Given the description of an element on the screen output the (x, y) to click on. 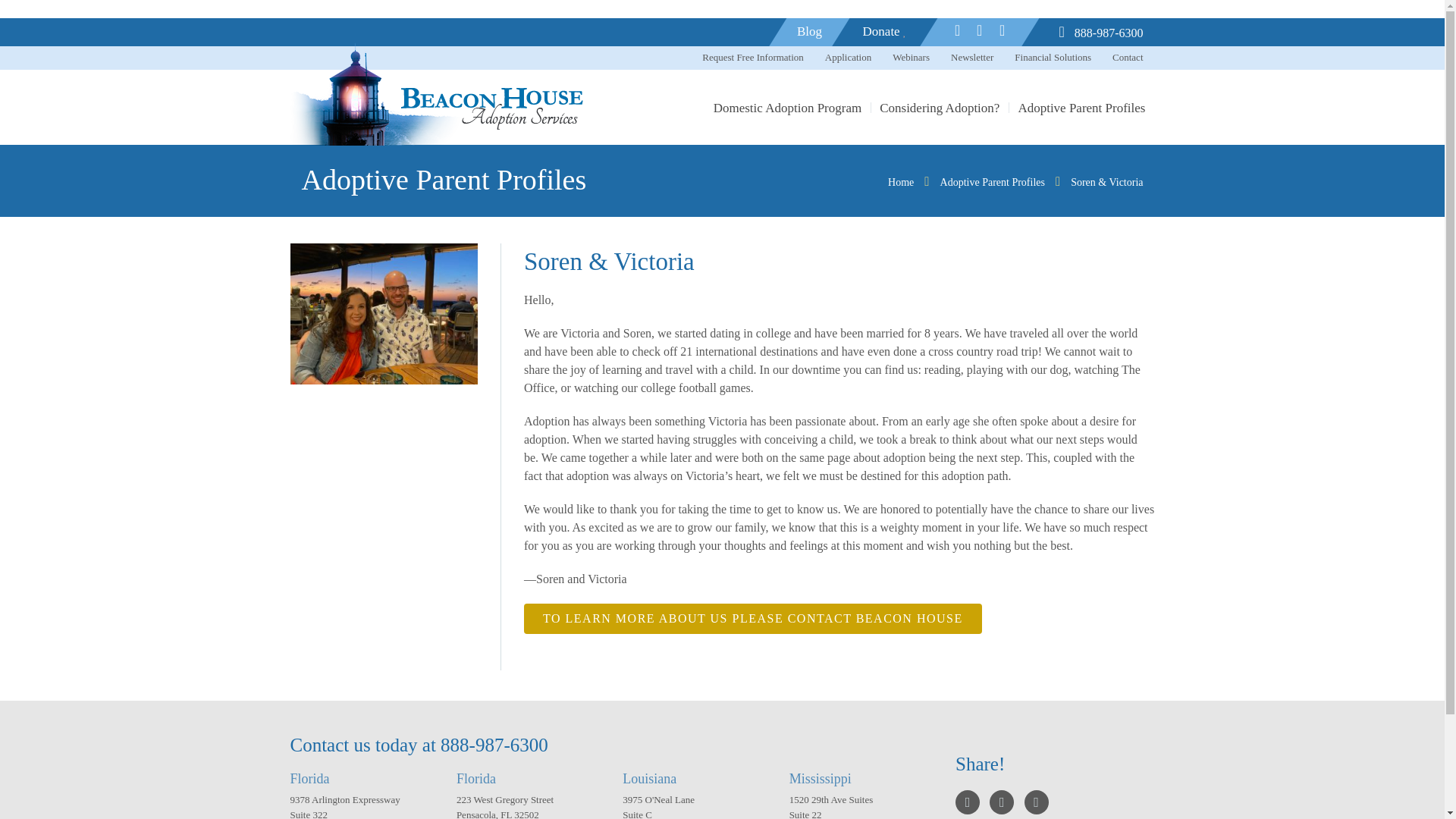
Blog (809, 32)
Application (847, 57)
Domestic Adoption Program (787, 107)
Adoptive Parent Profiles (1081, 107)
Newsletter (971, 57)
Request Free Information (752, 57)
Donate (885, 32)
Financial Solutions (1052, 57)
Webinars (911, 57)
Contact (1127, 57)
Home (901, 182)
Considering Adoption? (939, 107)
